Given the description of an element on the screen output the (x, y) to click on. 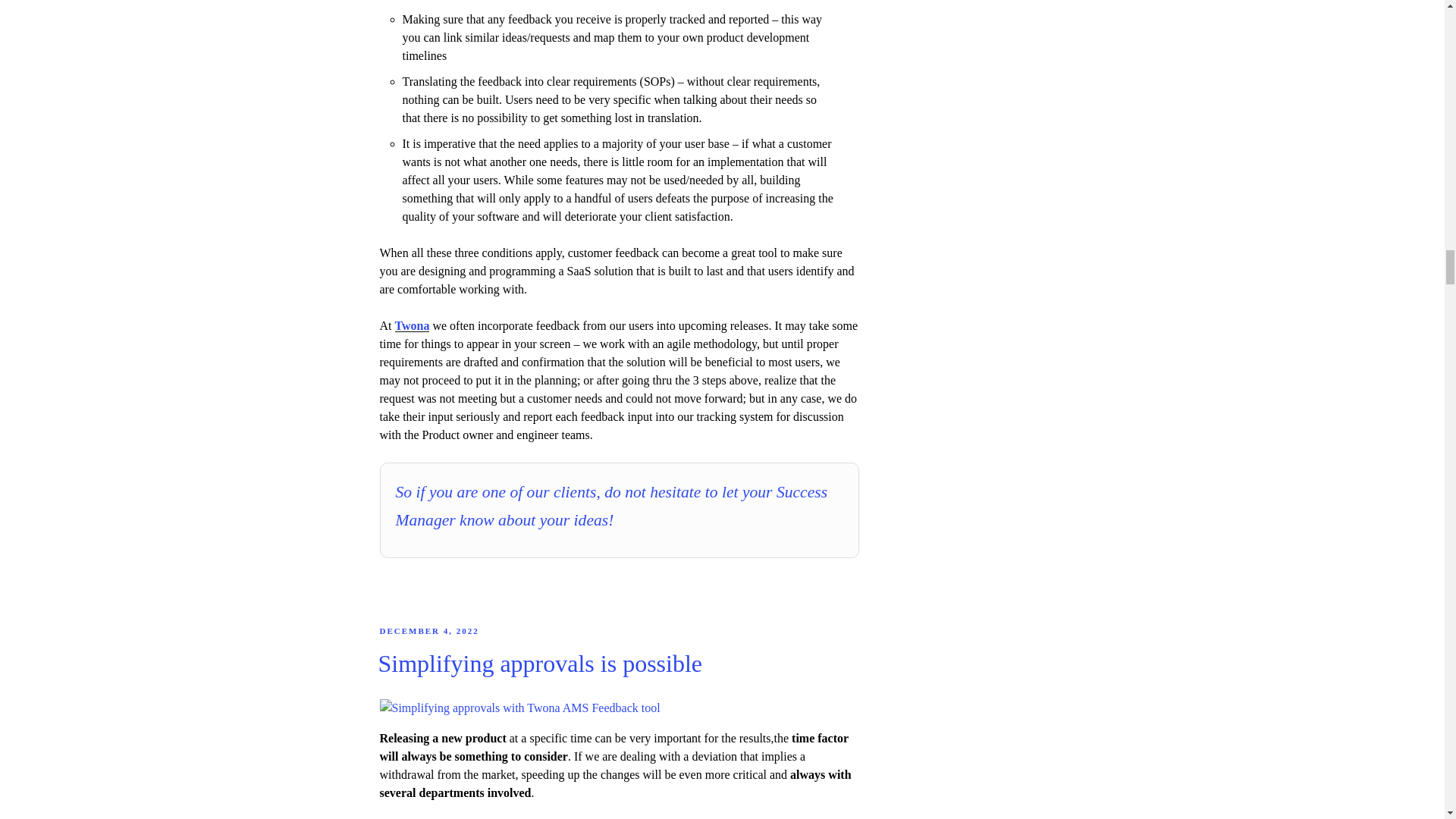
DECEMBER 4, 2022 (428, 630)
Twona (411, 325)
Simplifying approvals is possible (539, 663)
